Given the description of an element on the screen output the (x, y) to click on. 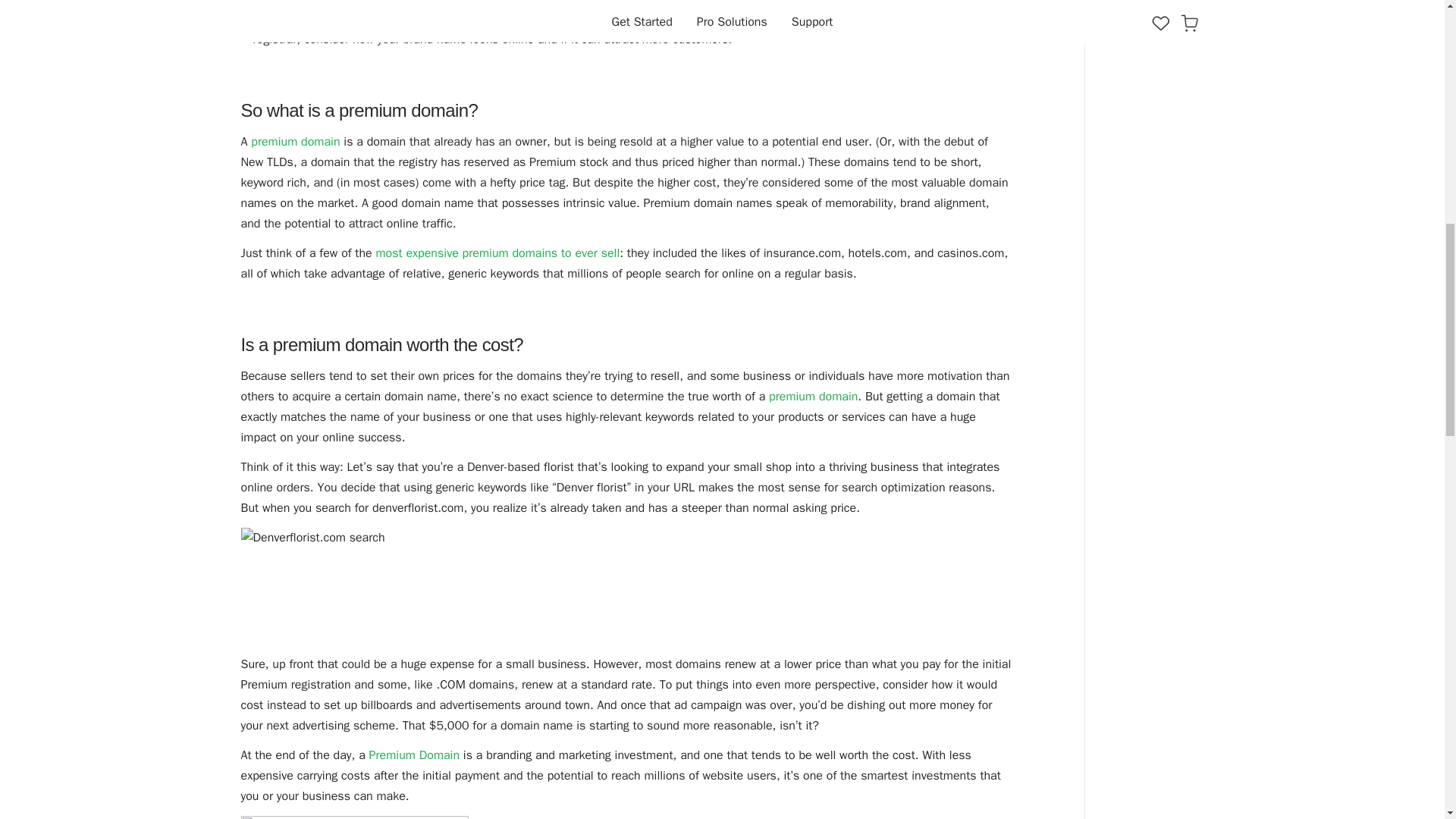
premium domain (812, 396)
Premium Domain (414, 754)
premium domain (294, 141)
most expensive premium domains to ever sell (496, 253)
